Given the description of an element on the screen output the (x, y) to click on. 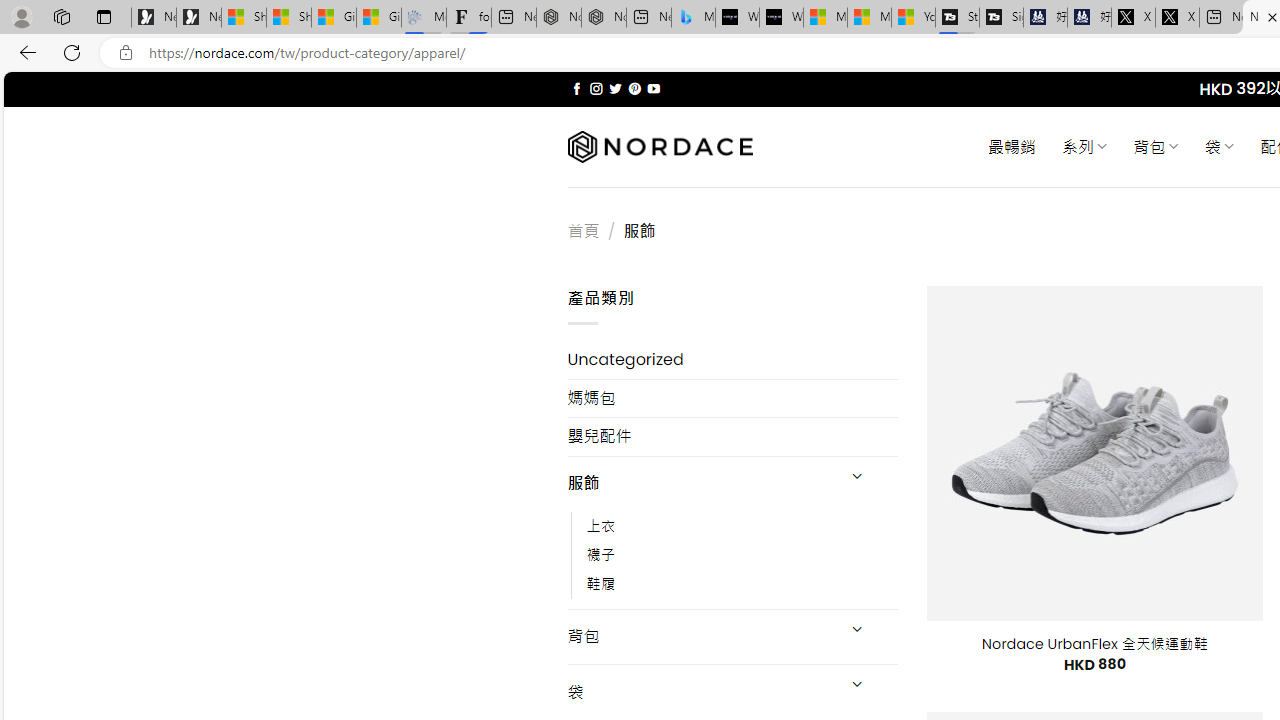
Follow on Facebook (576, 88)
Follow on Twitter (615, 88)
Follow on YouTube (653, 88)
